Given the description of an element on the screen output the (x, y) to click on. 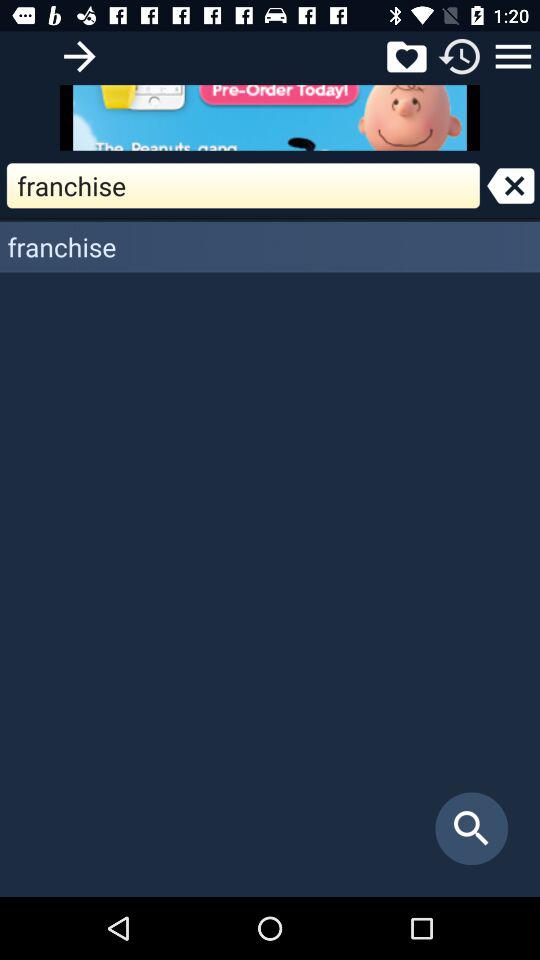
backspace arrow (510, 185)
